Given the description of an element on the screen output the (x, y) to click on. 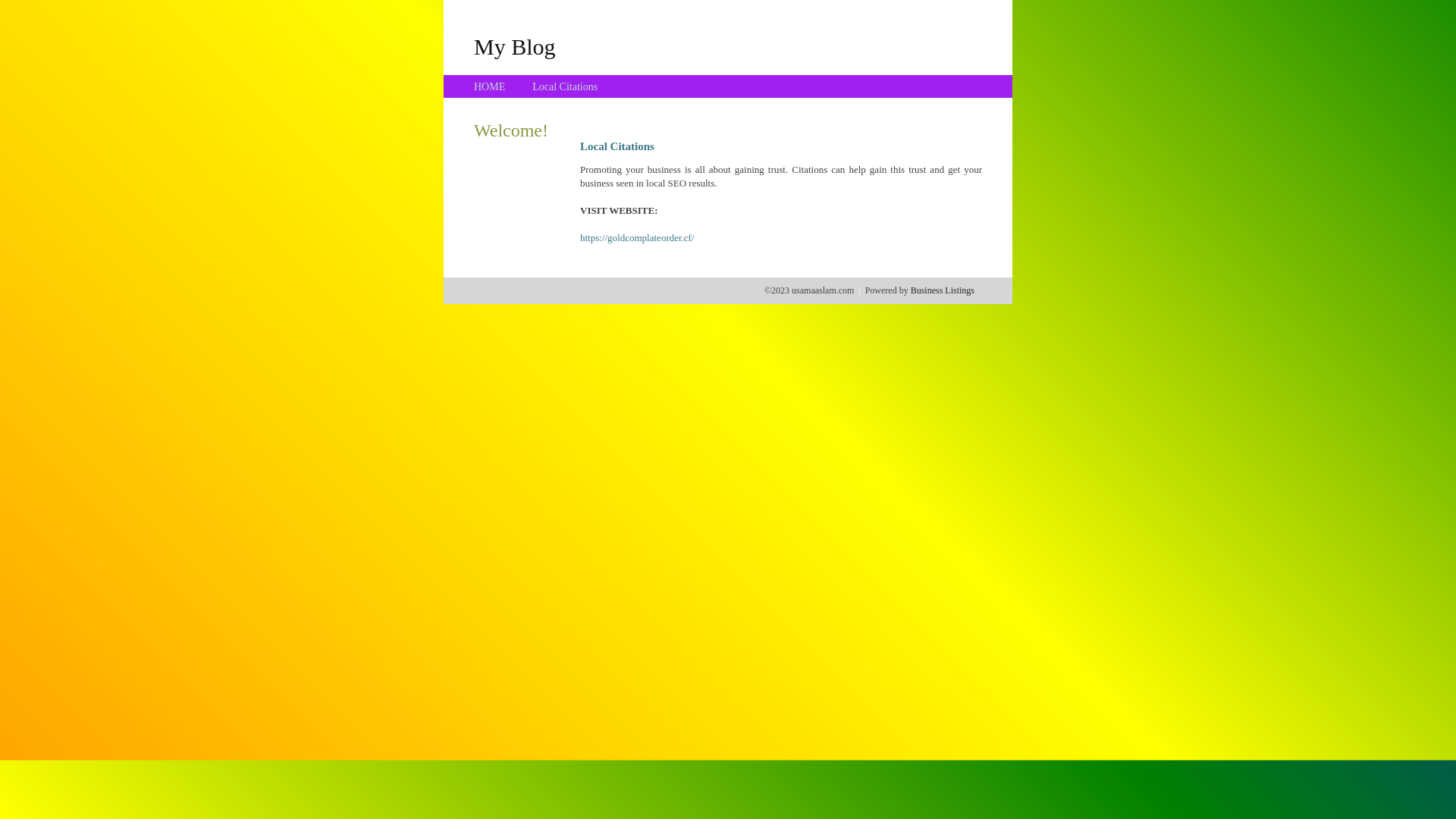
Business Listings Element type: text (942, 290)
Local Citations Element type: text (564, 86)
My Blog Element type: text (514, 46)
https://goldcomplateorder.cf/ Element type: text (637, 237)
HOME Element type: text (489, 86)
